Given the description of an element on the screen output the (x, y) to click on. 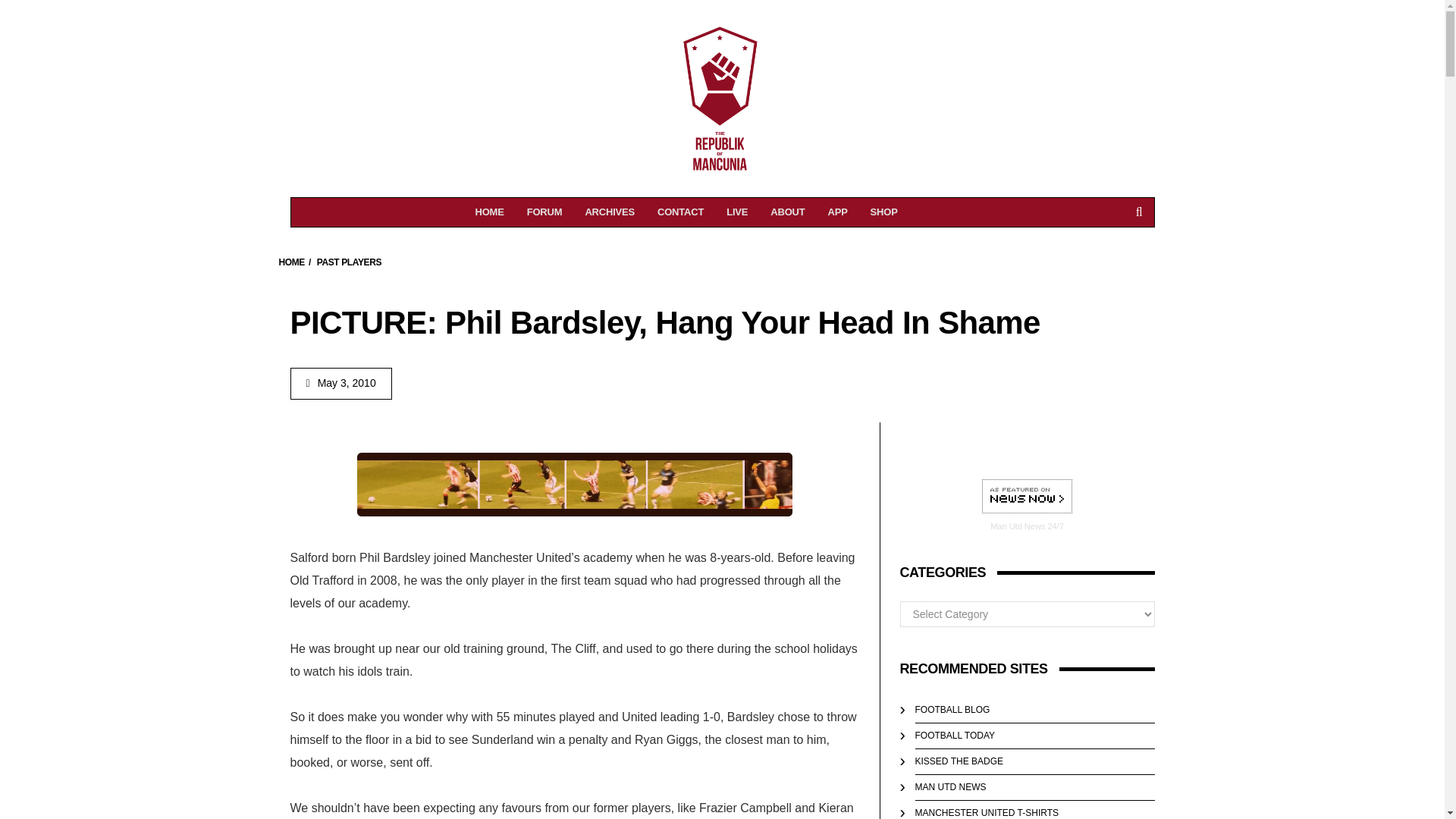
FORUM (544, 212)
APP (837, 212)
CONTACT (680, 212)
PAST PLAYERS (349, 262)
Bardsley dive effect (574, 484)
Bardsley dive effect (574, 484)
HOME (1026, 497)
SHOP (489, 212)
ARCHIVES (883, 212)
ABOUT (609, 212)
HOME (786, 212)
LIVE (291, 262)
